Given the description of an element on the screen output the (x, y) to click on. 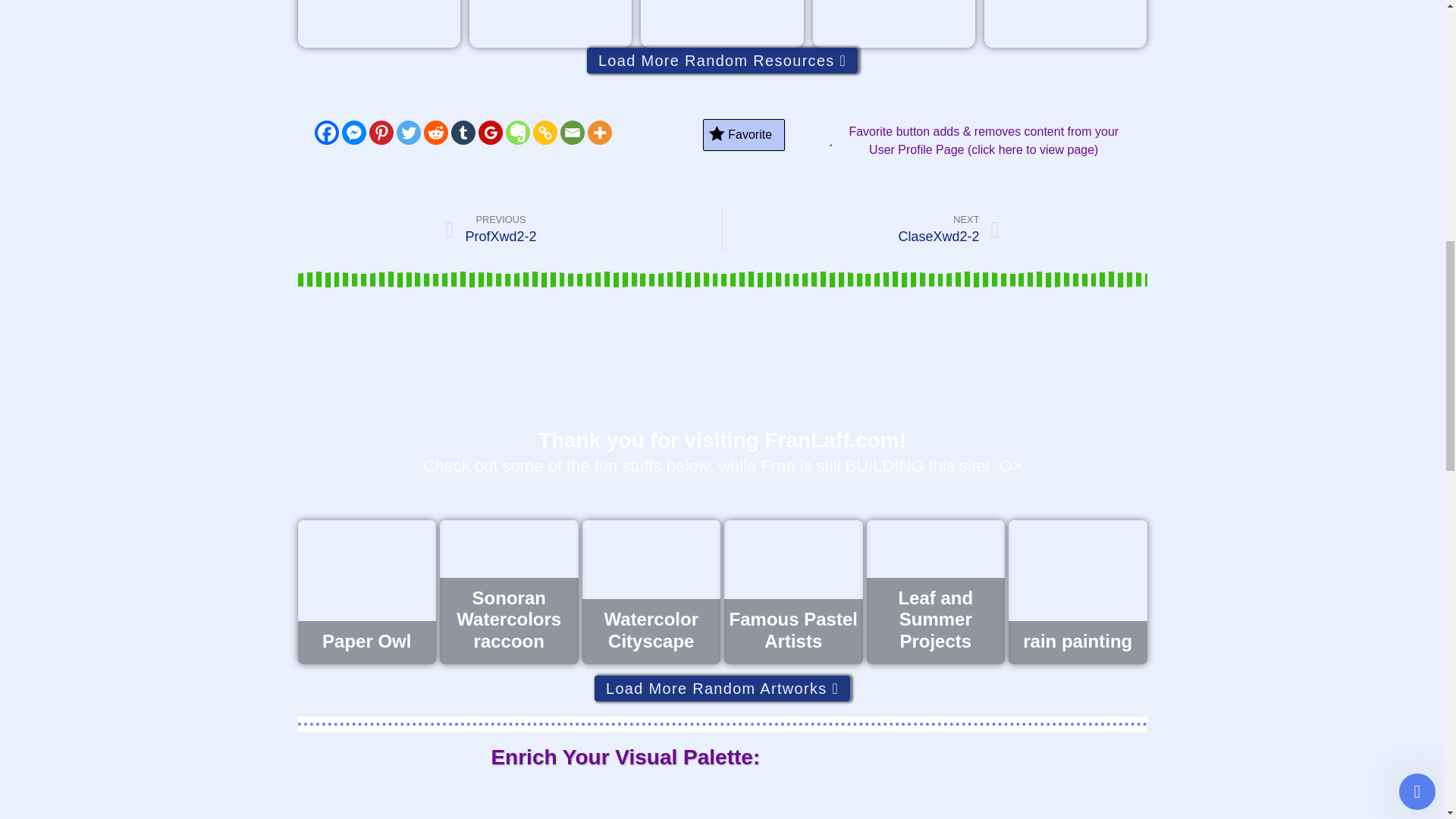
ProfBk1 (1065, 23)
ProfVid5 (893, 23)
Tumblr (461, 132)
Facebook (325, 132)
Reddit (434, 132)
Google Bookmarks (489, 132)
ProfiPDF2 (378, 23)
Facebook Messenger (352, 132)
Evernote (517, 132)
Copy Link (544, 132)
